Given the description of an element on the screen output the (x, y) to click on. 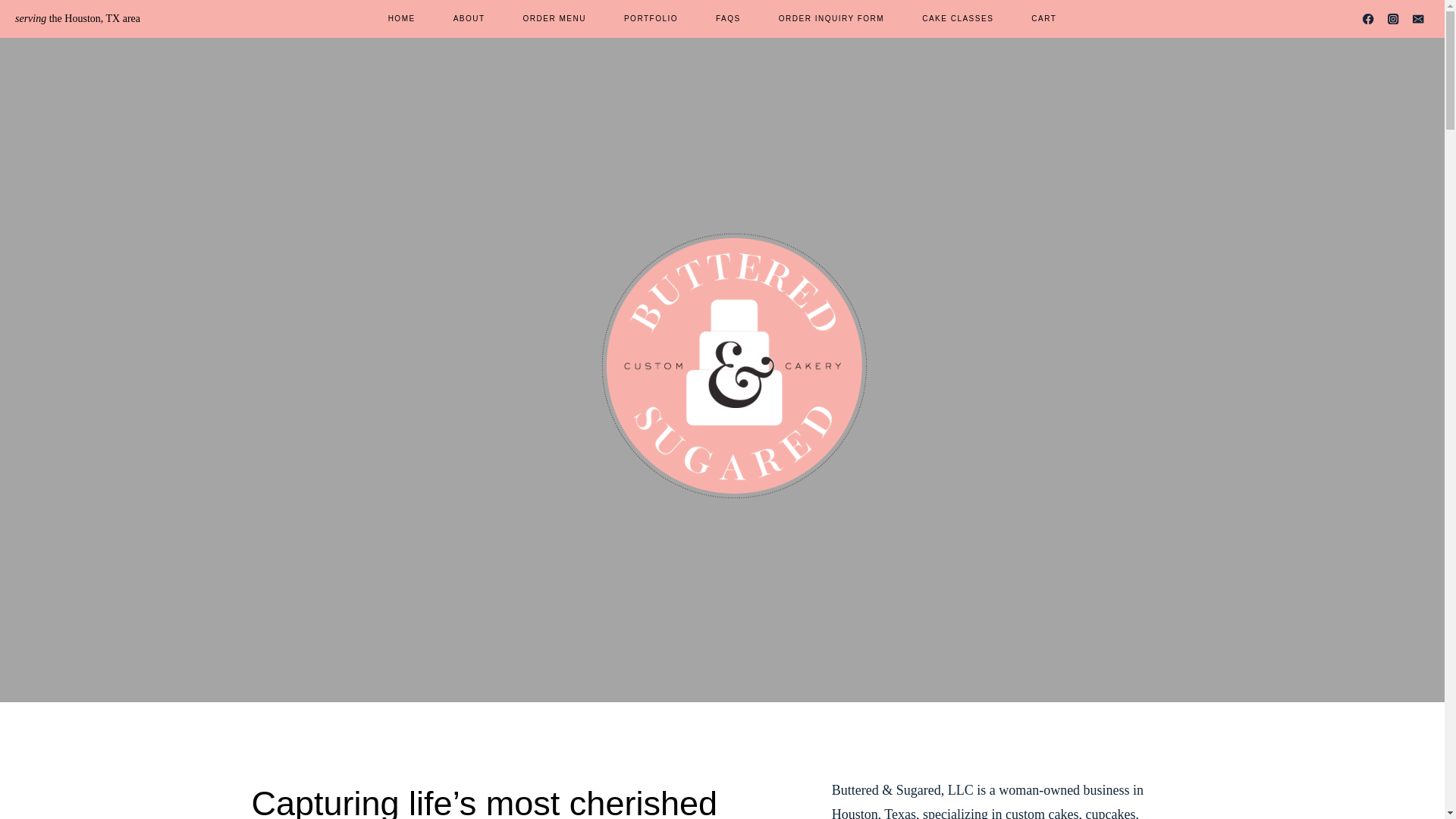
HOME (401, 18)
CAKE CLASSES (956, 18)
CART (1043, 18)
PORTFOLIO (651, 18)
ORDER MENU (554, 18)
ORDER INQUIRY FORM (831, 18)
FAQS (728, 18)
ABOUT (468, 18)
